Given the description of an element on the screen output the (x, y) to click on. 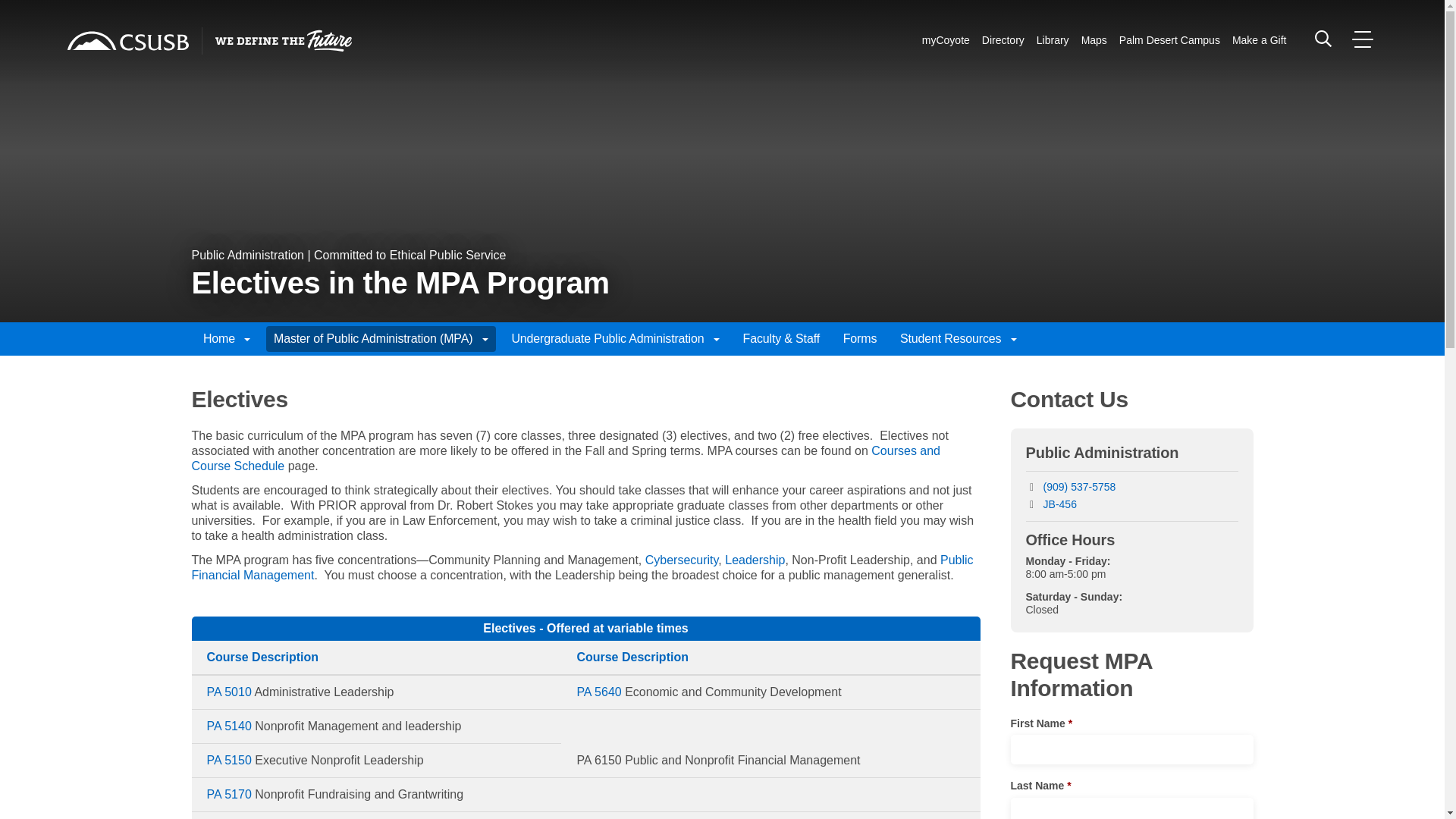
Search CSUSB (1323, 38)
Home (126, 40)
